Given the description of an element on the screen output the (x, y) to click on. 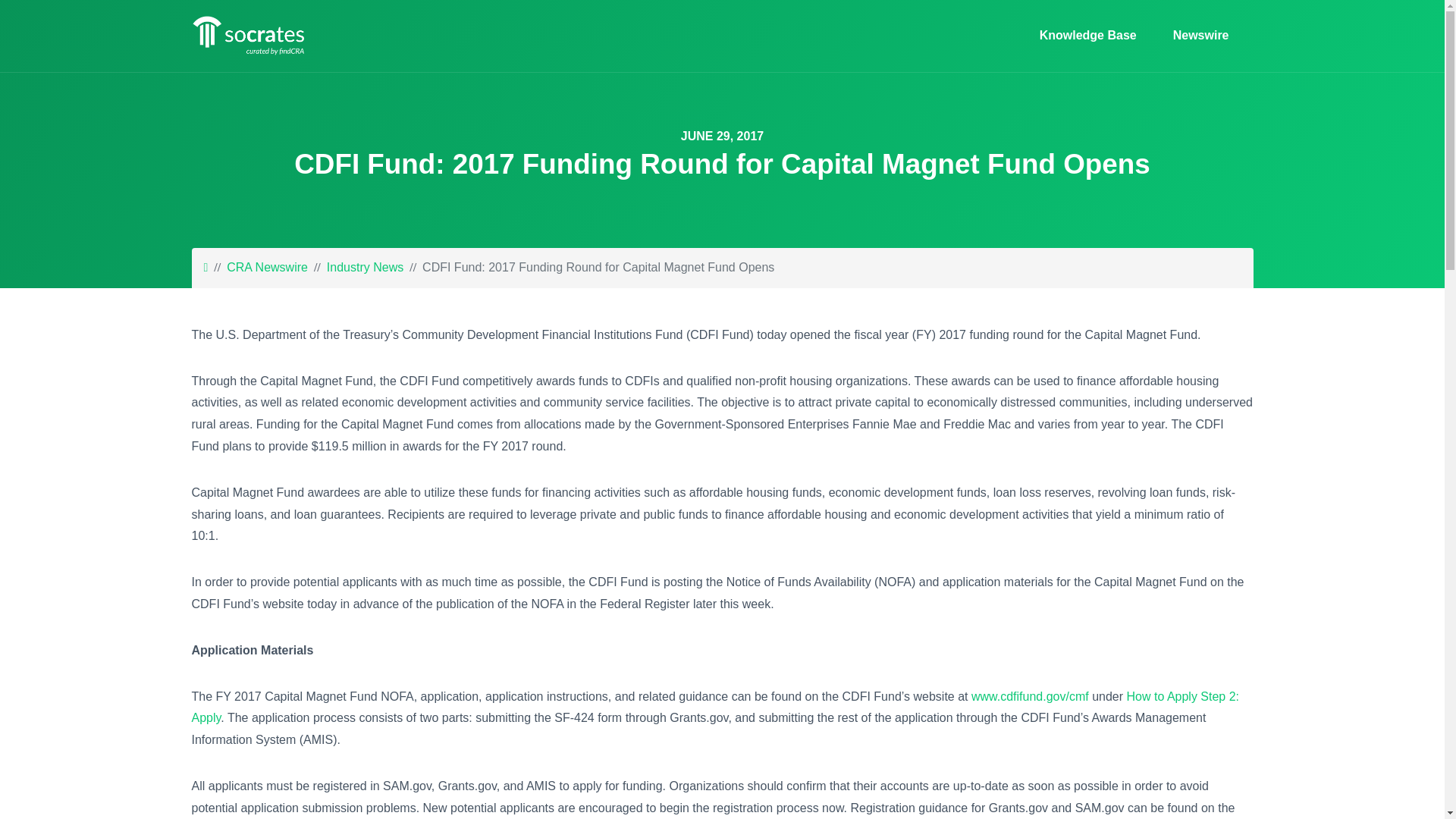
CRA Newswire (267, 267)
Newswire (1194, 35)
Knowledge Base (1087, 35)
How to Apply Step 2: Apply (714, 707)
Industry News (364, 267)
